Given the description of an element on the screen output the (x, y) to click on. 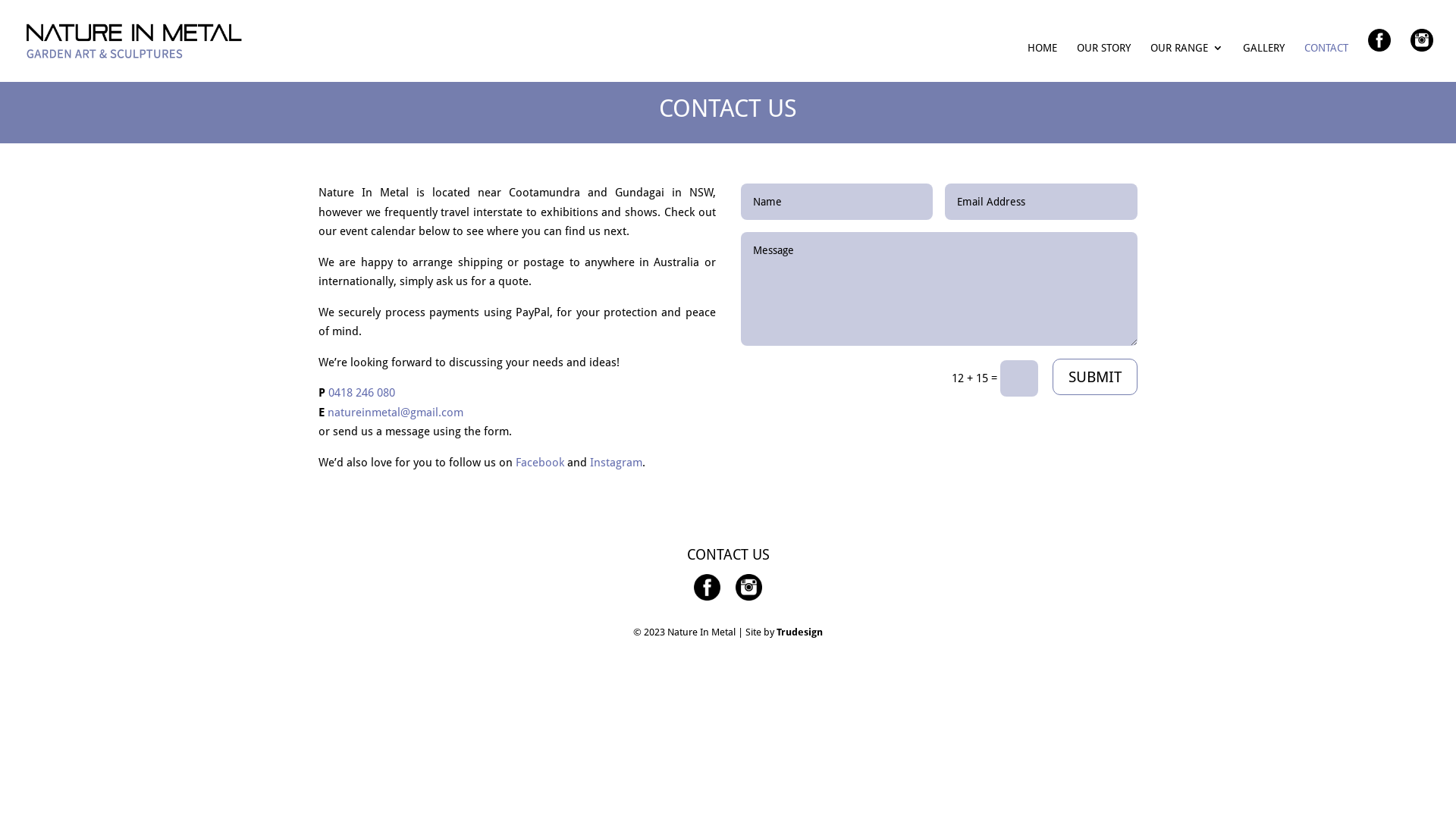
Trudesign Element type: text (799, 631)
SUBMIT Element type: text (1094, 376)
OUR STORY Element type: text (1103, 61)
Instagram Element type: text (615, 462)
natureinmetal@gmail.com Element type: text (395, 412)
OUR RANGE Element type: text (1186, 61)
0418 246 080 Element type: text (361, 392)
HOME Element type: text (1042, 61)
GALLERY Element type: text (1263, 61)
CONTACT US Element type: text (728, 554)
CONTACT Element type: text (1326, 61)
Facebook Element type: text (539, 462)
